Given the description of an element on the screen output the (x, y) to click on. 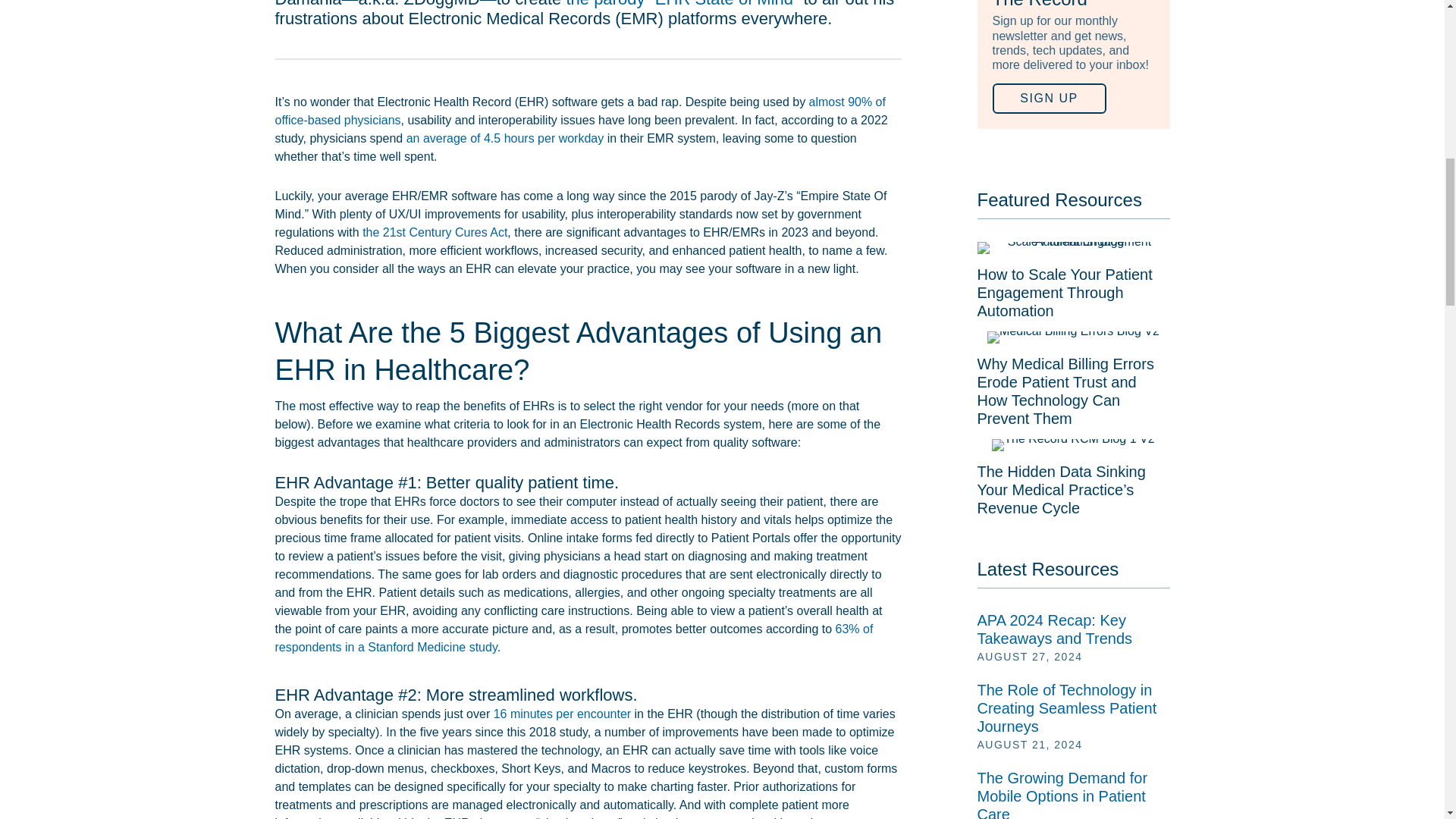
Scale Patient Engagement Automation Blog (1072, 247)
Medical Billing Errors Blog V2 (1072, 337)
The Record RCM Blog 1 V2 (1072, 444)
How to Scale Your Patient Engagement Through Automation (1072, 282)
